Given the description of an element on the screen output the (x, y) to click on. 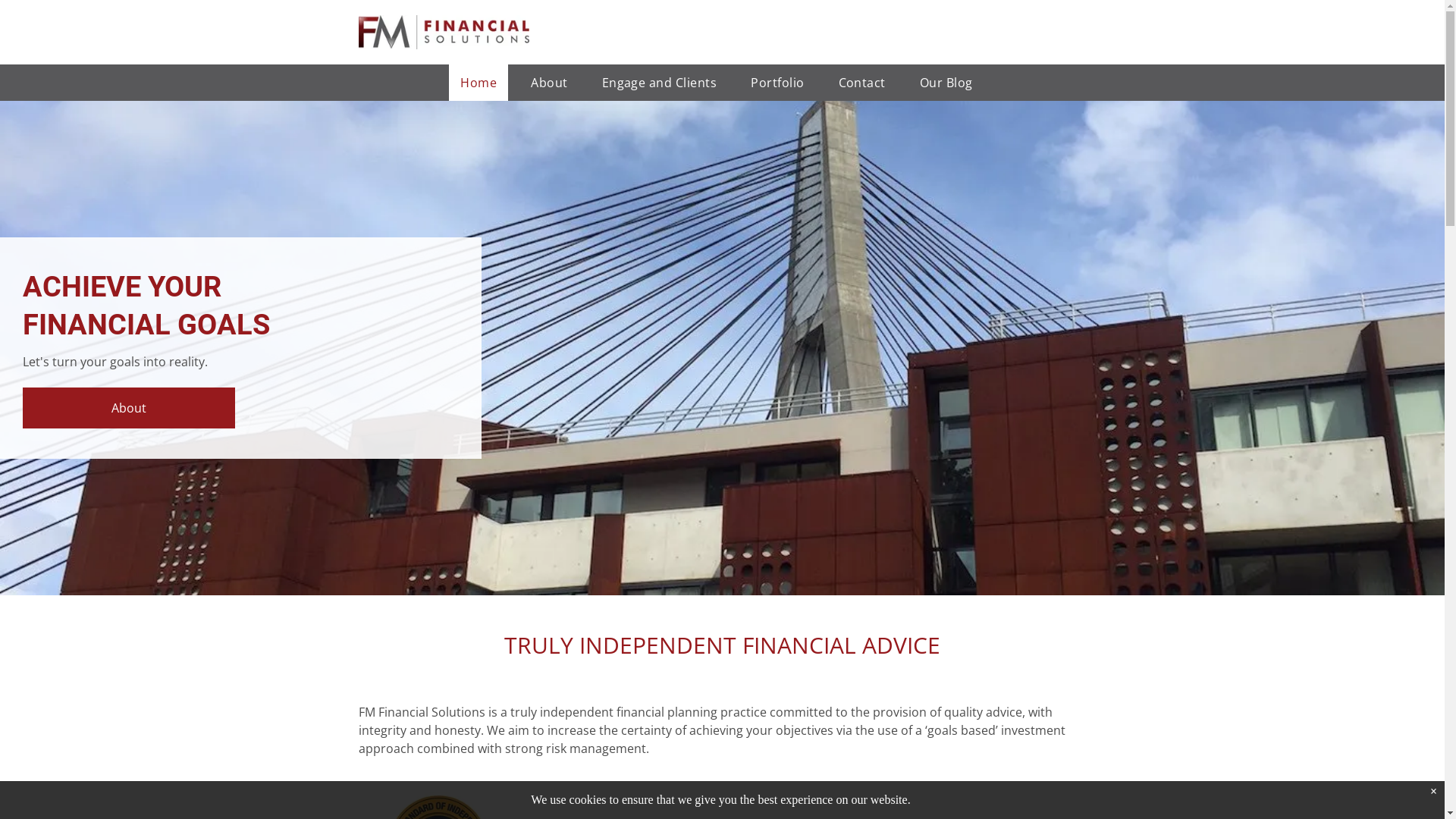
Contact Element type: text (862, 82)
About Element type: text (548, 82)
Portfolio Element type: text (777, 82)
Engage and Clients Element type: text (659, 82)
Our Blog Element type: text (946, 82)
Home Element type: text (478, 82)
About Element type: text (128, 407)
